Given the description of an element on the screen output the (x, y) to click on. 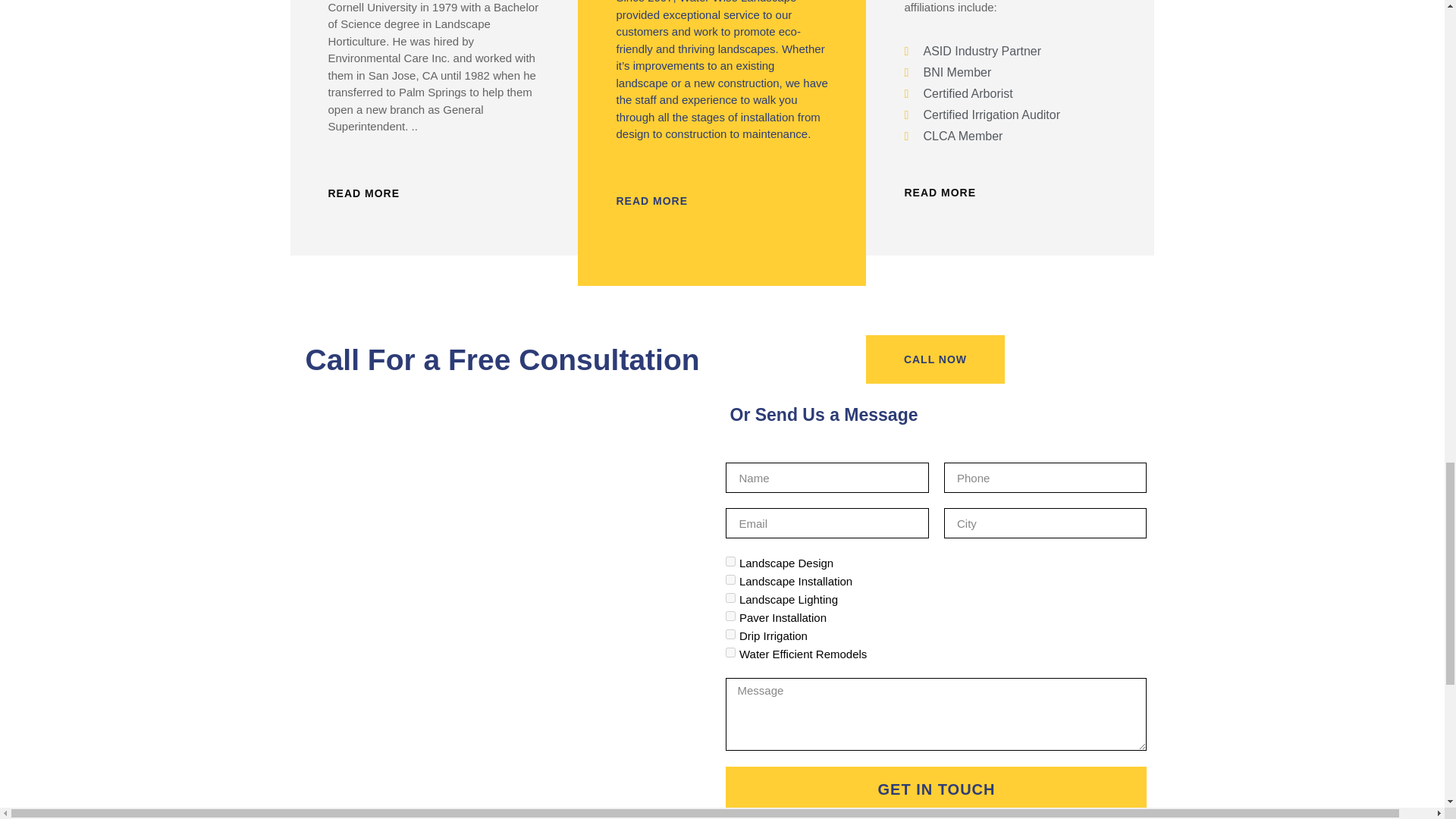
READ MORE (362, 193)
landscape-lighting (730, 597)
READ MORE (651, 200)
drip-irrigation (730, 634)
paver-installation (730, 615)
READ MORE (939, 192)
landscape-design (730, 561)
CALL NOW (935, 359)
landscape-installation (730, 579)
water-efficient-remodels (730, 652)
